Given the description of an element on the screen output the (x, y) to click on. 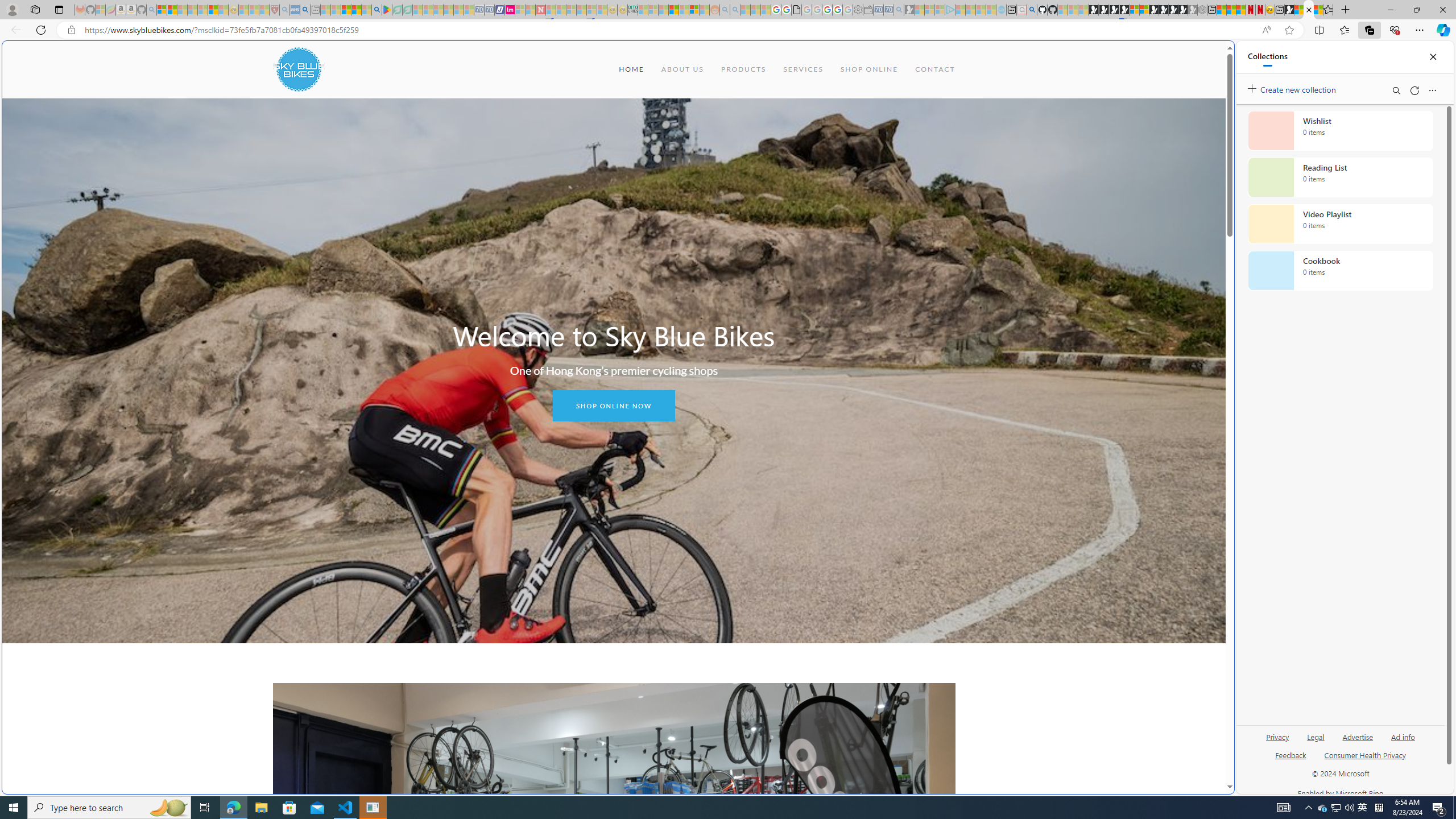
Frequently visited (965, 151)
